Given the description of an element on the screen output the (x, y) to click on. 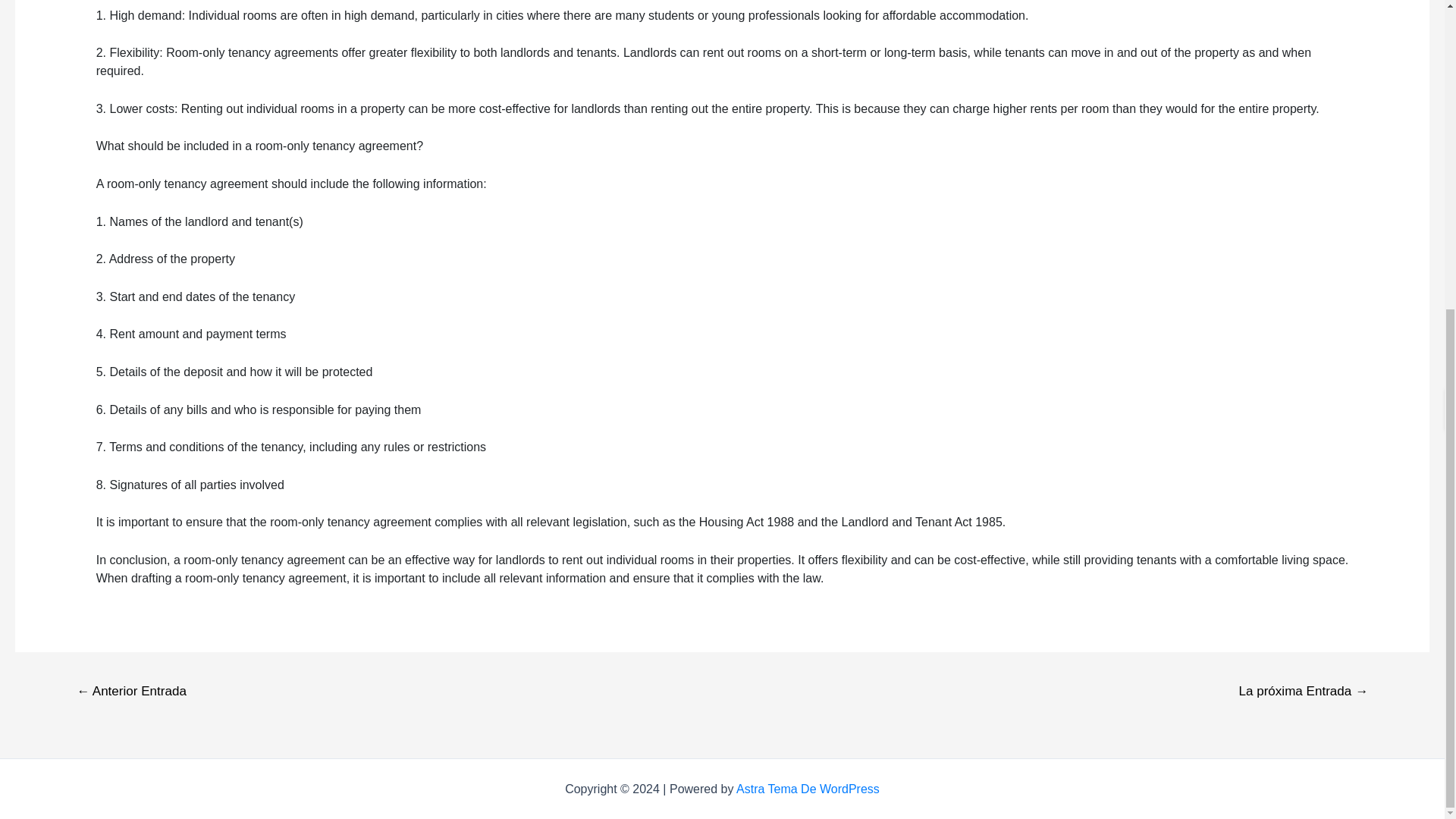
Astra Tema De WordPress (807, 788)
